Given the description of an element on the screen output the (x, y) to click on. 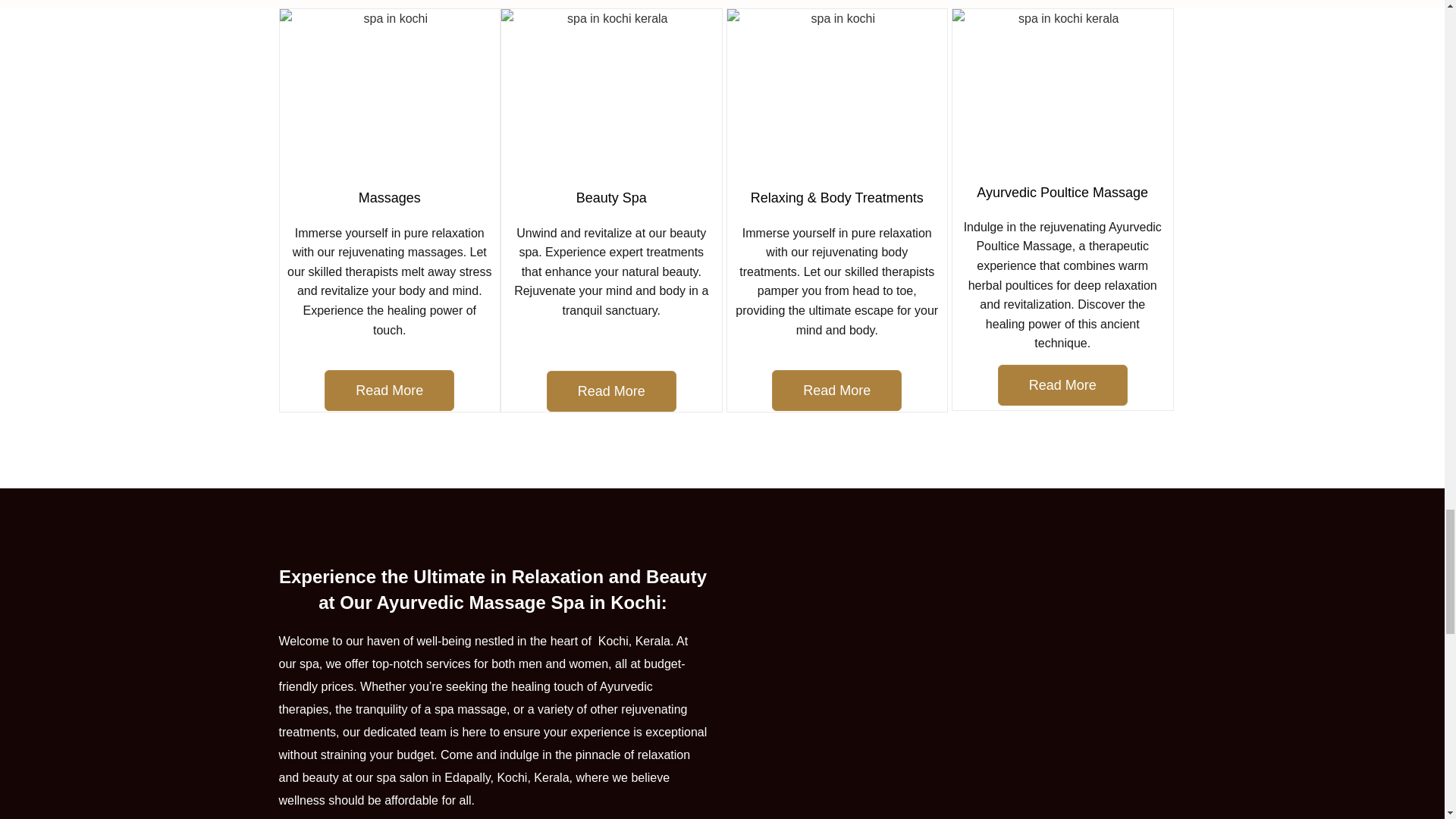
Read More (612, 391)
Read More (389, 390)
Read More (836, 390)
Read More (1061, 384)
